Given the description of an element on the screen output the (x, y) to click on. 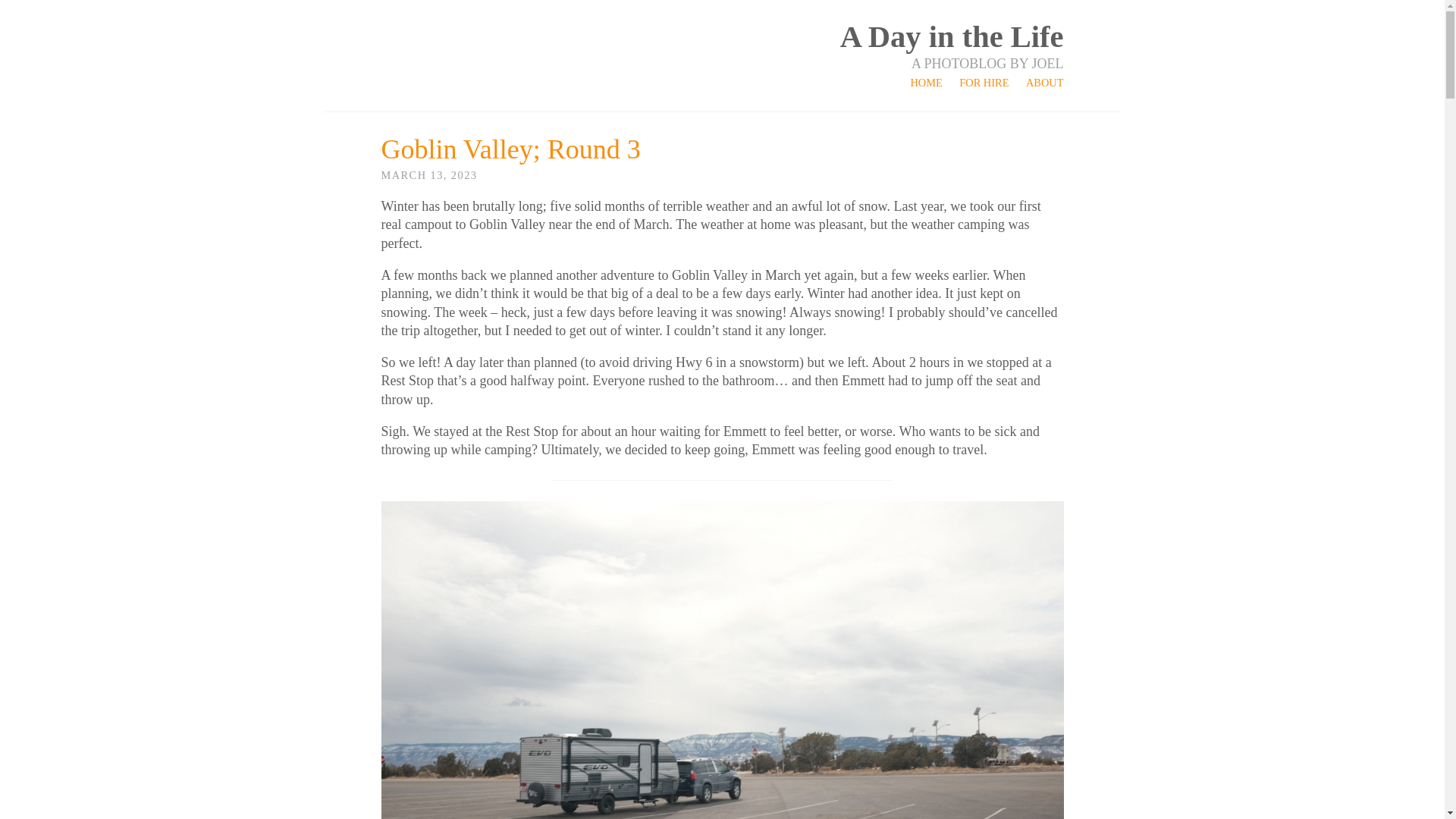
ABOUT (1045, 82)
Goblin Valley; Round 3 (510, 149)
HOME (926, 82)
FOR HIRE (984, 82)
